Given the description of an element on the screen output the (x, y) to click on. 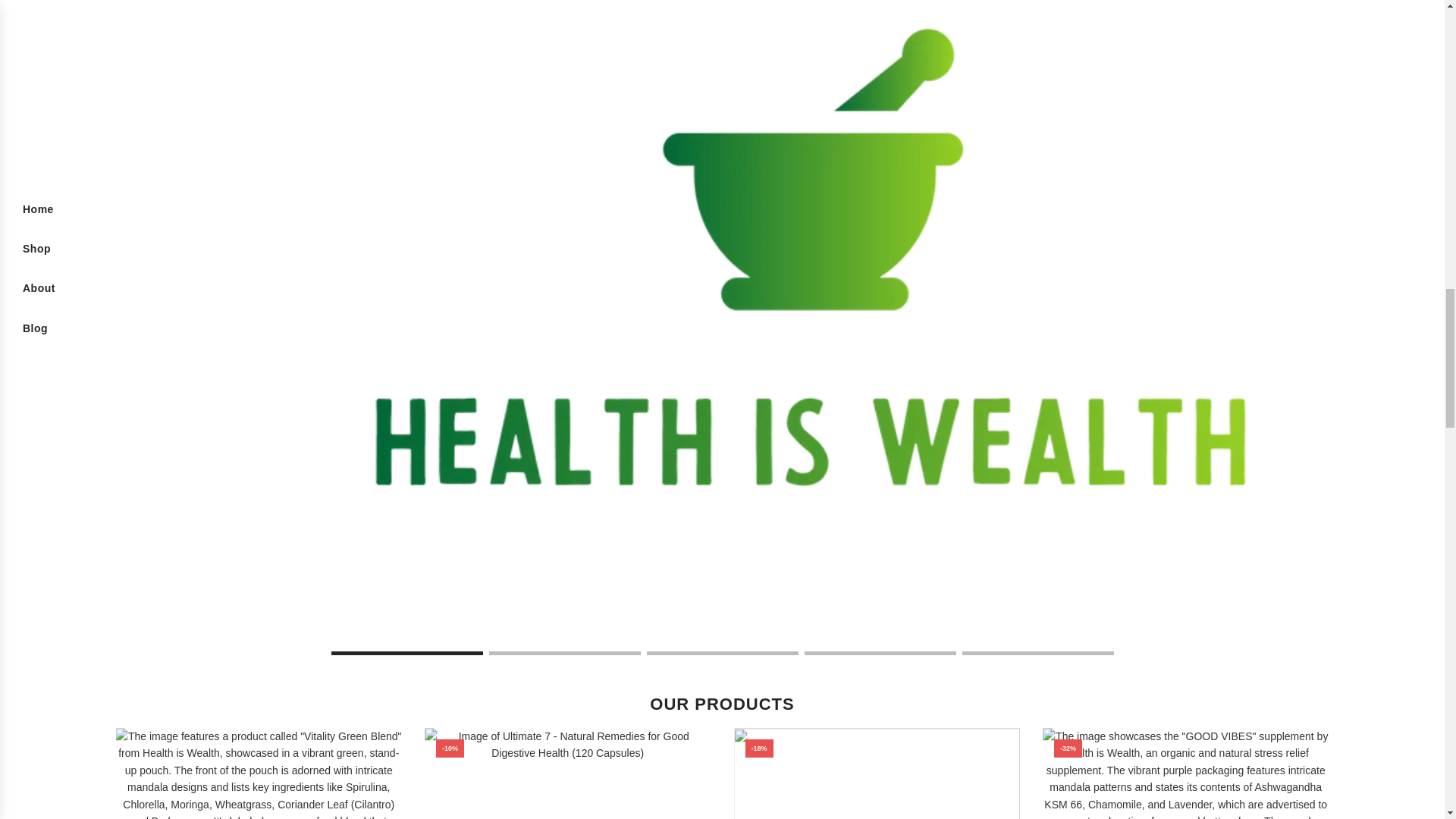
Ultimate 7 - Digestive Health Capsules (568, 773)
Good Vibes - Organic Stress Relief Supplement (1185, 773)
Vitality Green Blend Capsules - Organic Energy Greens (258, 773)
Vitality Green Blend Powder - Organic Energy Greens (876, 773)
